Given the description of an element on the screen output the (x, y) to click on. 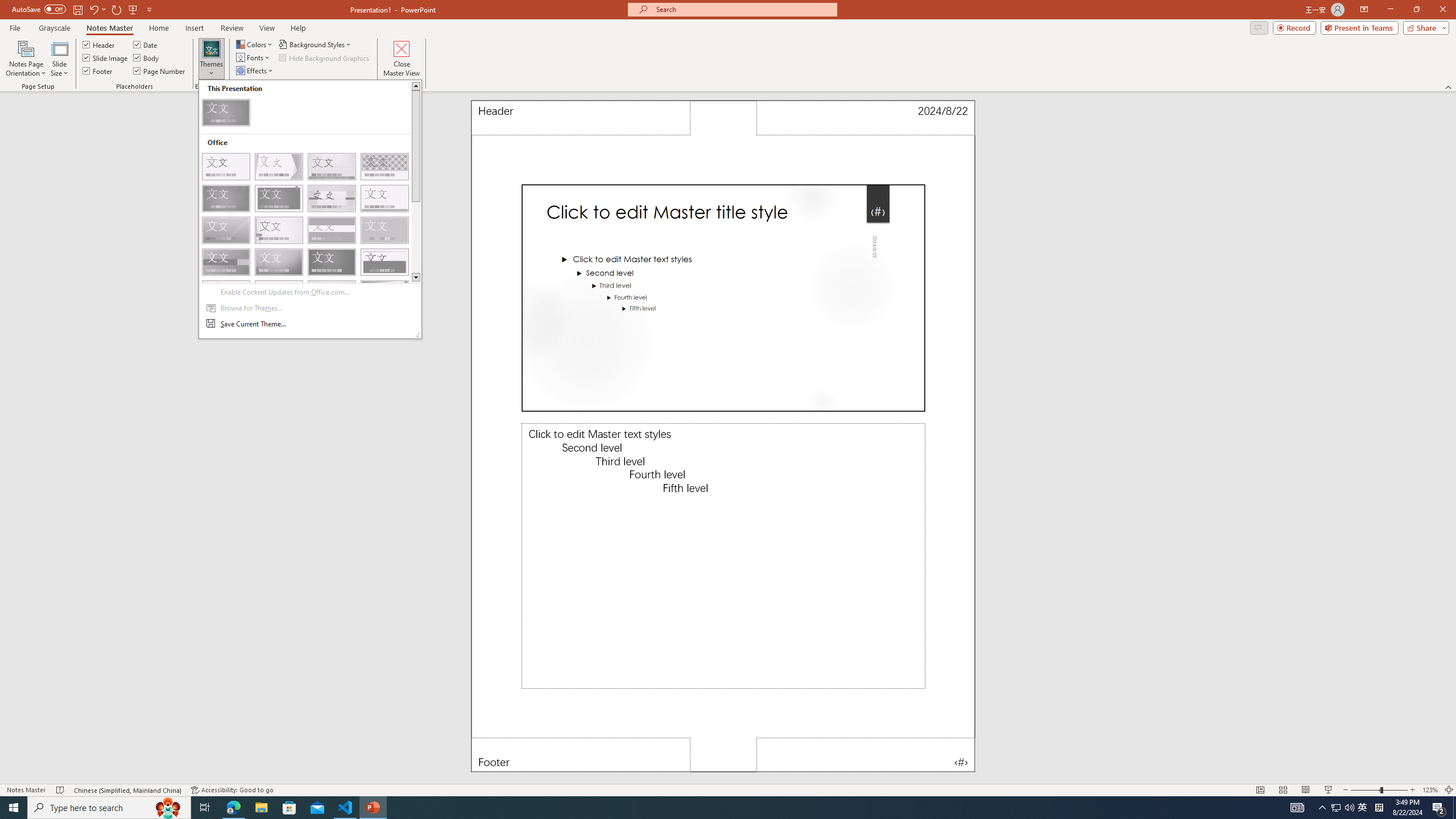
Header (580, 117)
Accessibility Checker Accessibility: Good to go (232, 790)
Date (146, 44)
